Given the description of an element on the screen output the (x, y) to click on. 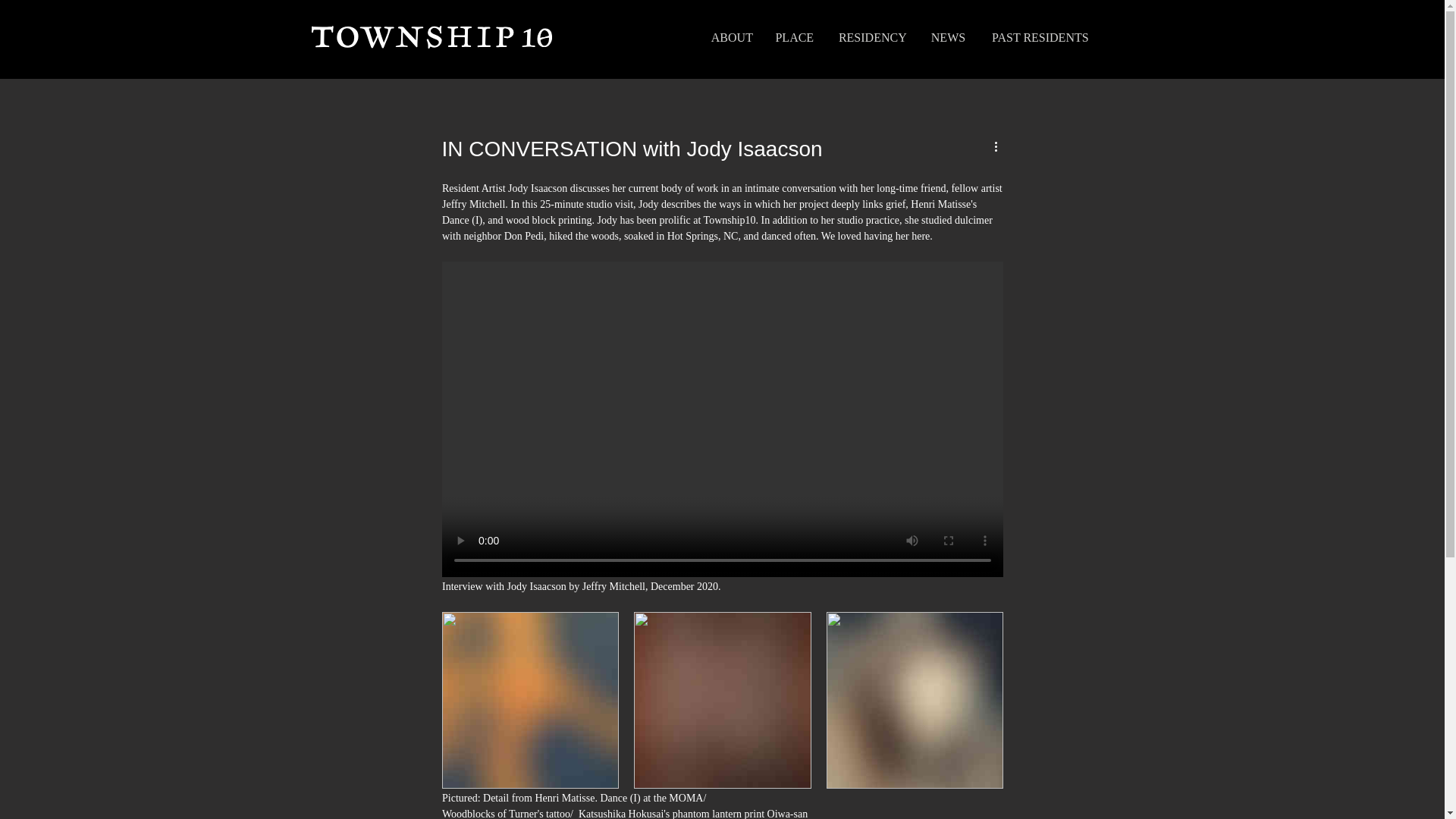
ABOUT (731, 37)
PAST RESIDENTS (1039, 37)
NEWS (946, 37)
PLACE (793, 37)
RESIDENCY (871, 37)
